Given the description of an element on the screen output the (x, y) to click on. 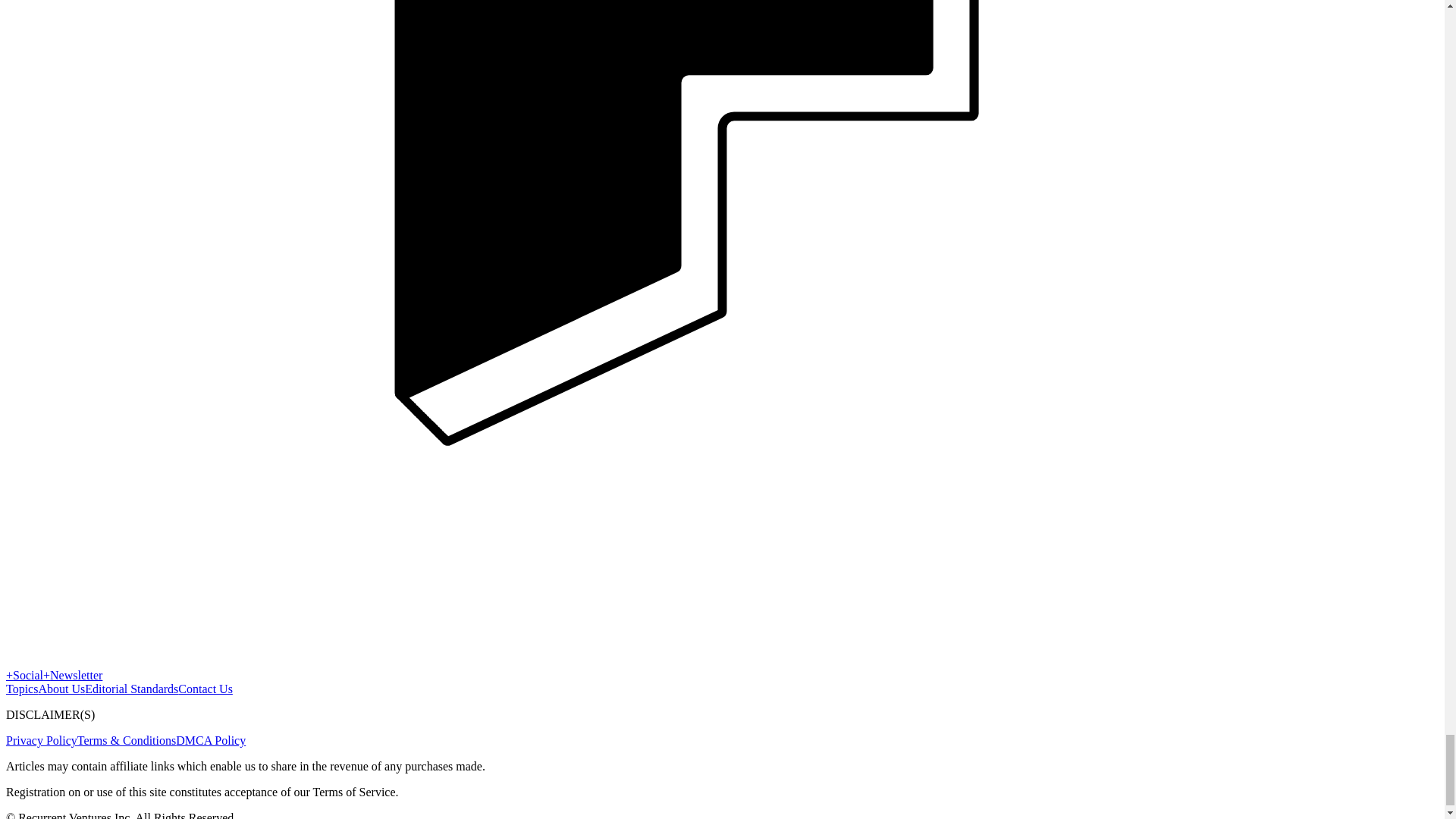
Contact Us (204, 688)
About Us (60, 688)
DMCA Policy (211, 739)
Editorial Standards (130, 688)
Topics (21, 688)
Privacy Policy (41, 739)
